Given the description of an element on the screen output the (x, y) to click on. 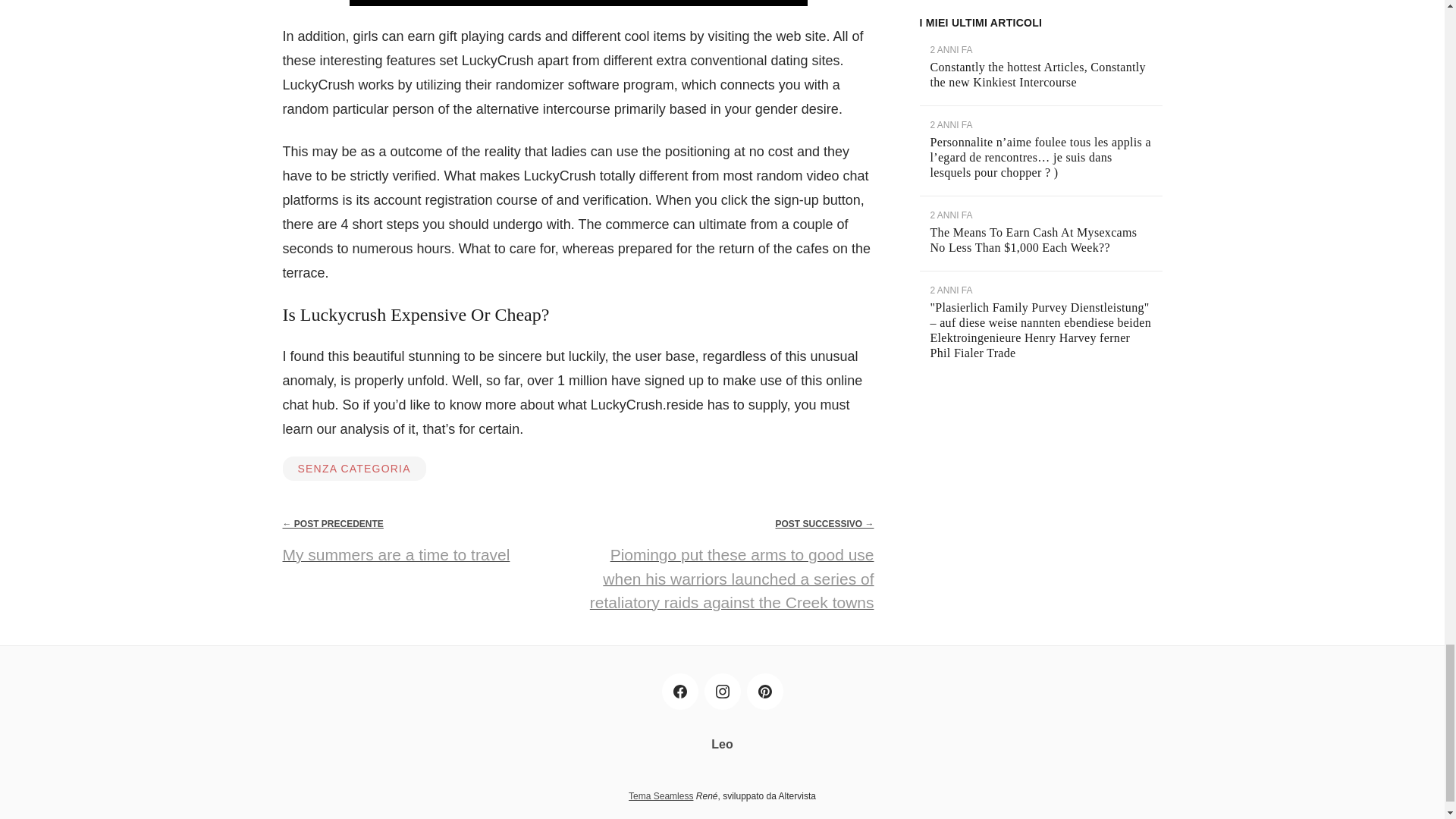
SENZA CATEGORIA (353, 468)
Pinterest (764, 691)
Facebook (679, 691)
Tema Seamless (660, 795)
Leo (721, 744)
Instagram (721, 691)
